Given the description of an element on the screen output the (x, y) to click on. 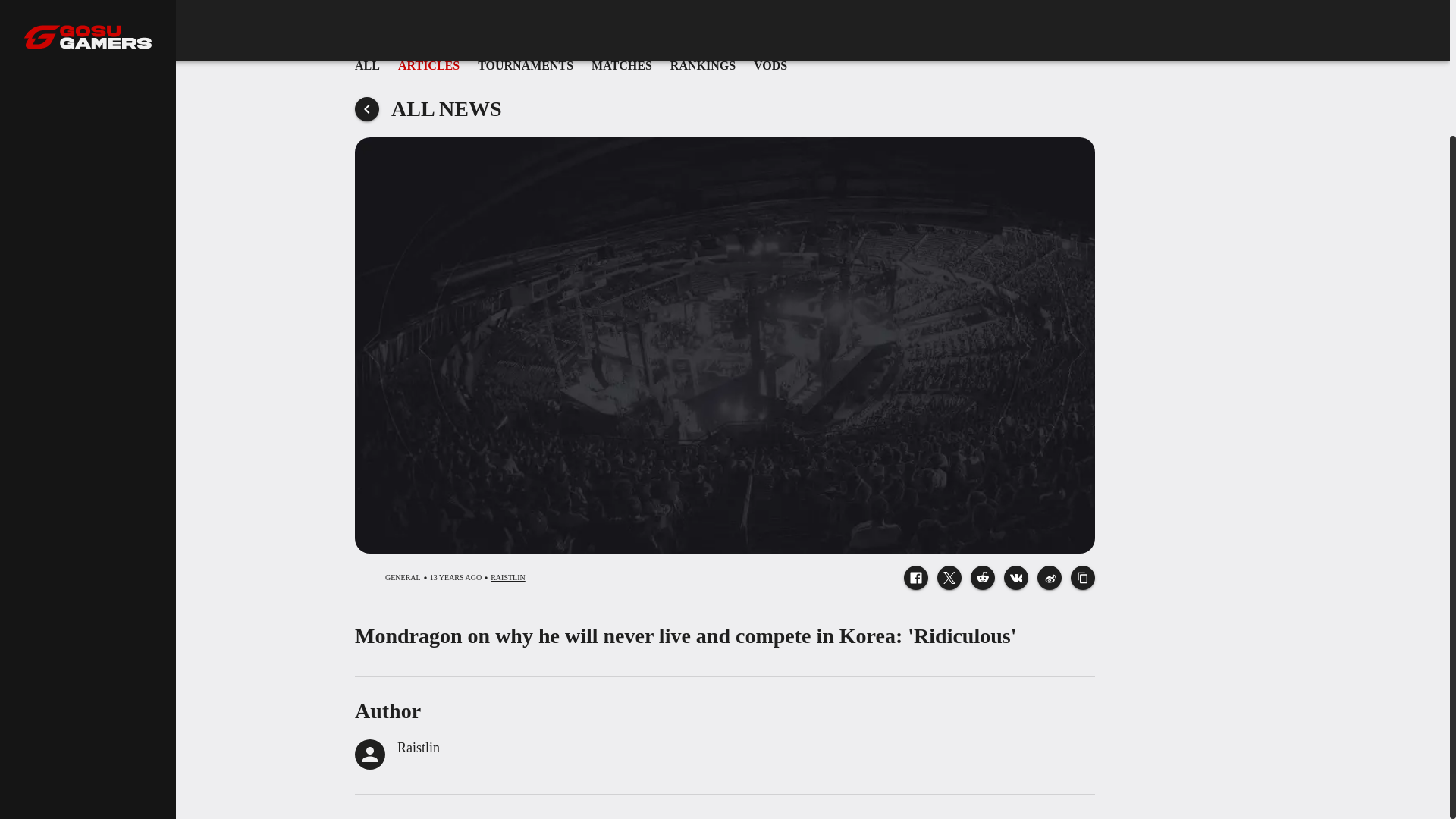
Raistlin (418, 747)
RAISTLIN (507, 577)
TOURNAMENTS (525, 65)
MATCHES (621, 65)
Share to Facebook (916, 577)
VODS (770, 65)
RANKINGS (724, 65)
ARTICLES (702, 65)
